Given the description of an element on the screen output the (x, y) to click on. 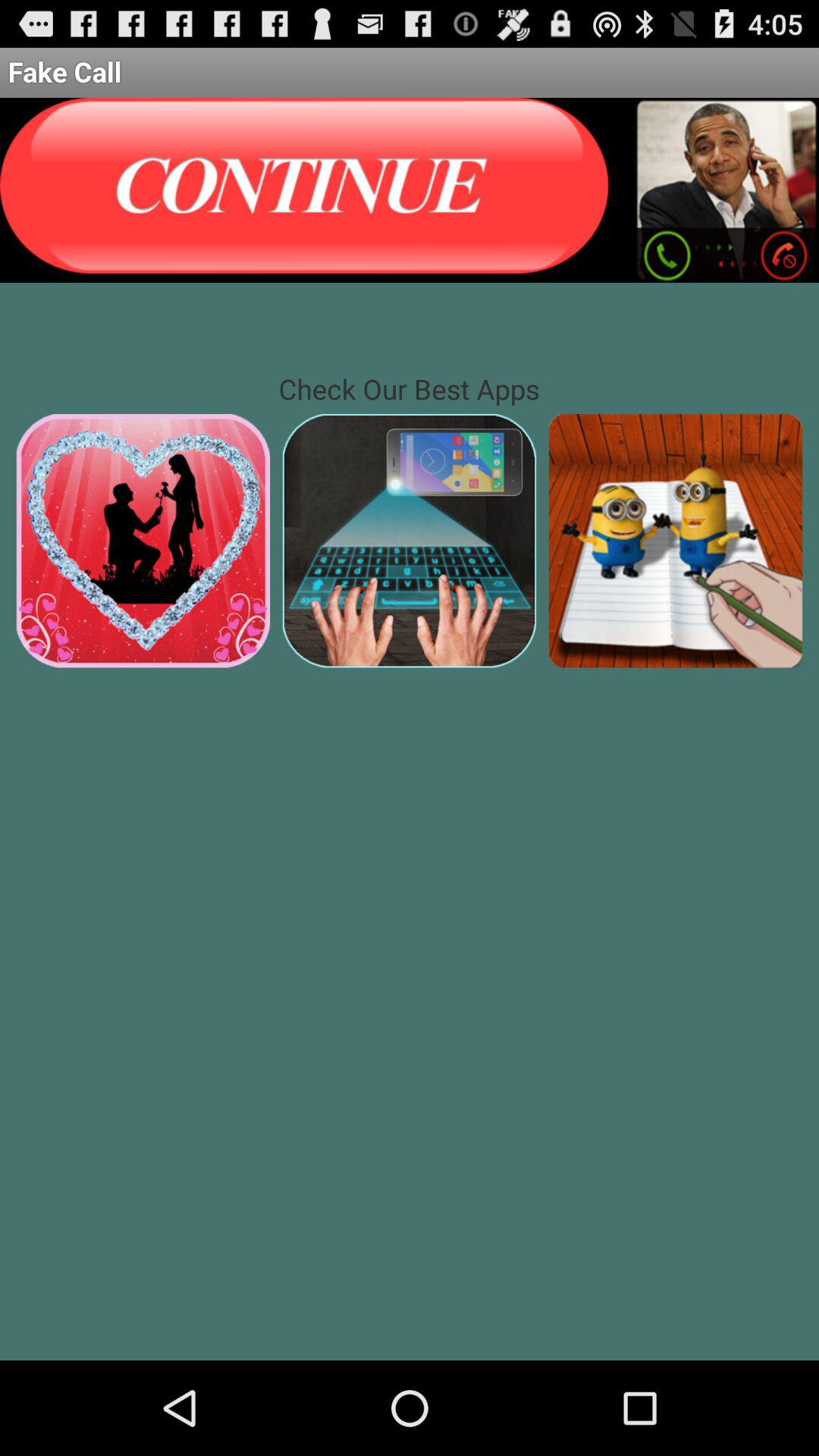
go to another app (409, 540)
